Given the description of an element on the screen output the (x, y) to click on. 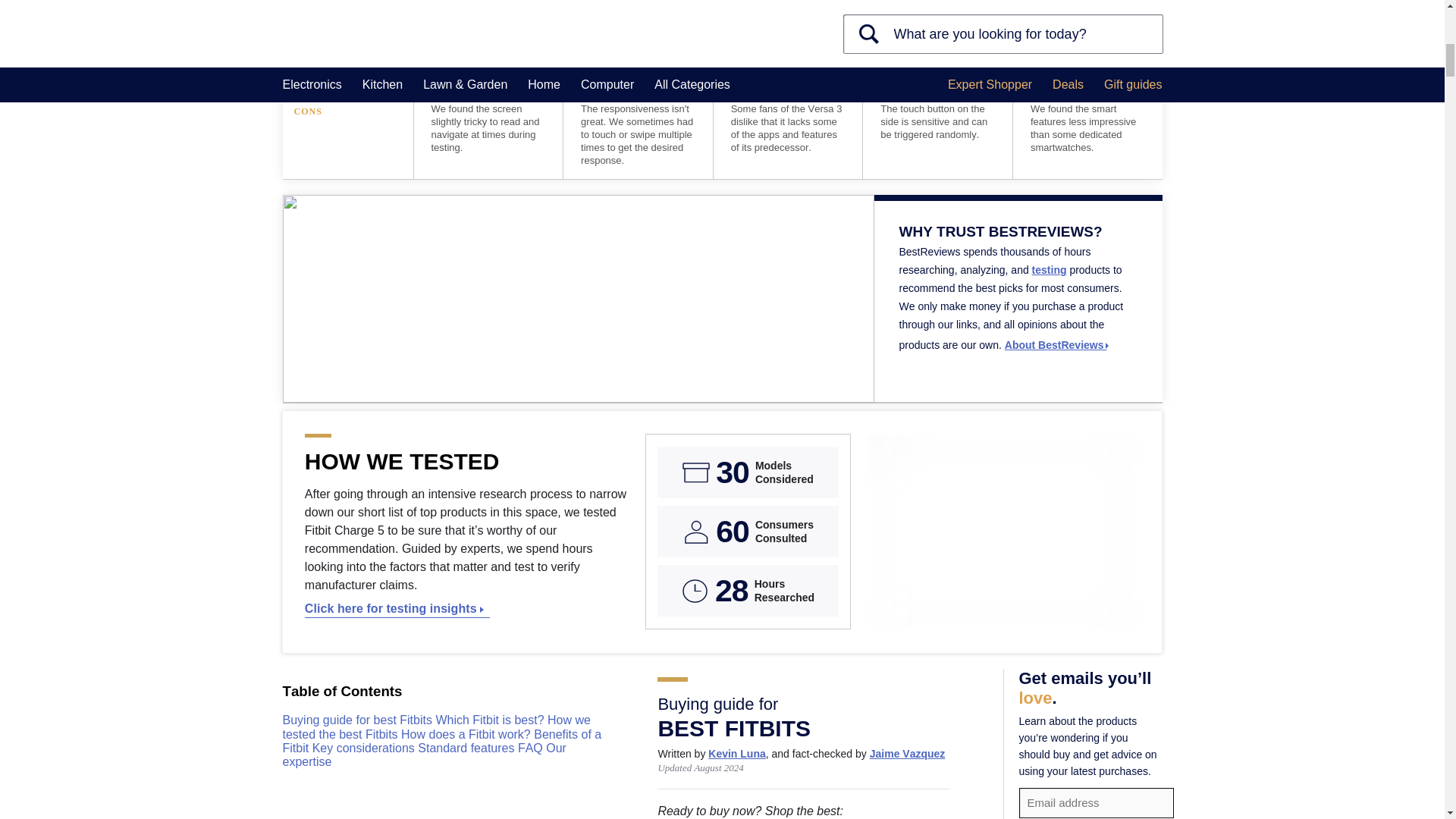
FAQ (532, 748)
Which Fitbit is best? (491, 719)
How we tested the best Fitbits (435, 726)
Buying guide for best Fitbits (358, 719)
Benefits of a Fitbit (441, 741)
Subscribe email (1096, 802)
About BestReviews   (1056, 345)
How does a Fitbit work? (467, 734)
Standard features (467, 748)
testing (1049, 269)
